Given the description of an element on the screen output the (x, y) to click on. 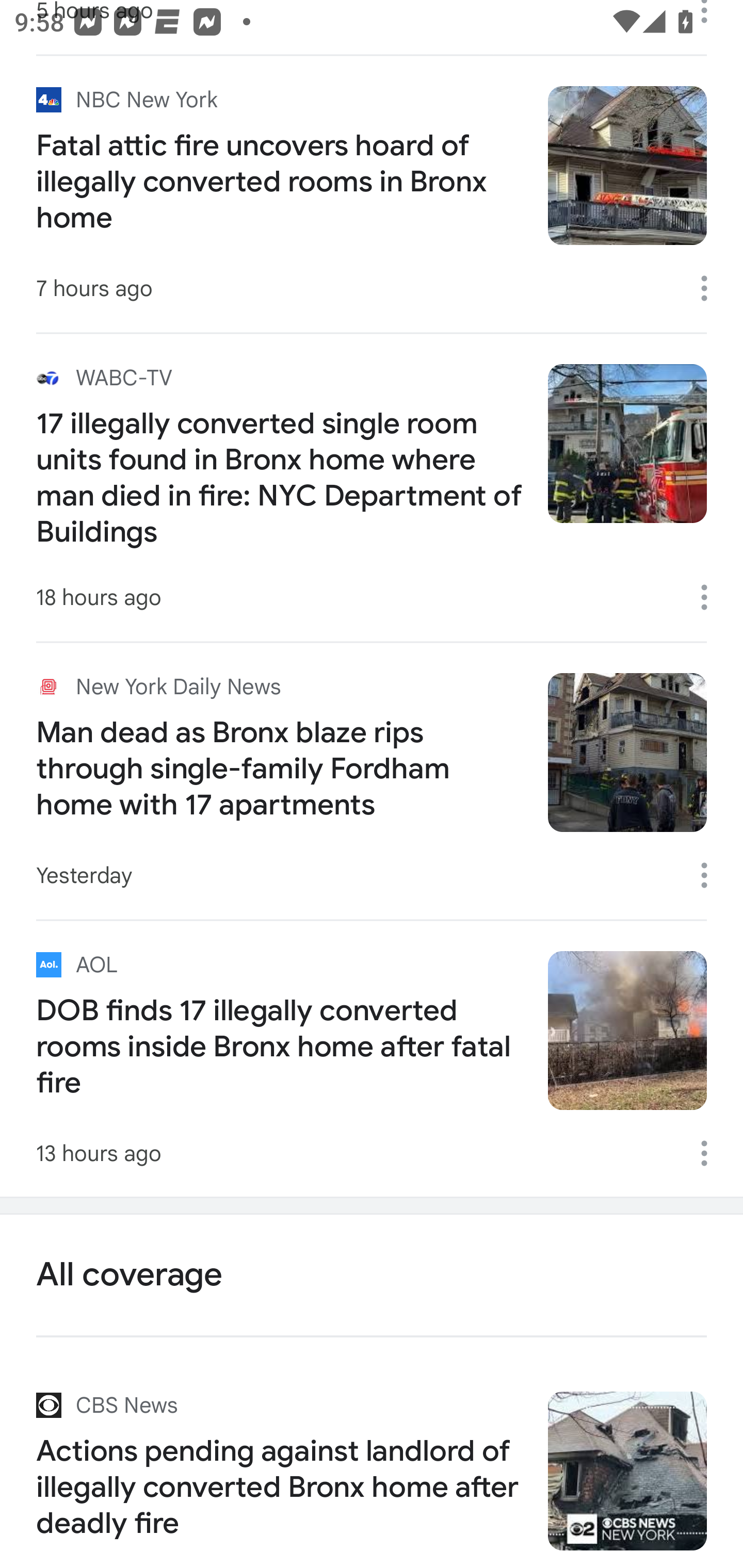
More options (711, 288)
More options (711, 597)
More options (711, 875)
More options (711, 1153)
